Given the description of an element on the screen output the (x, y) to click on. 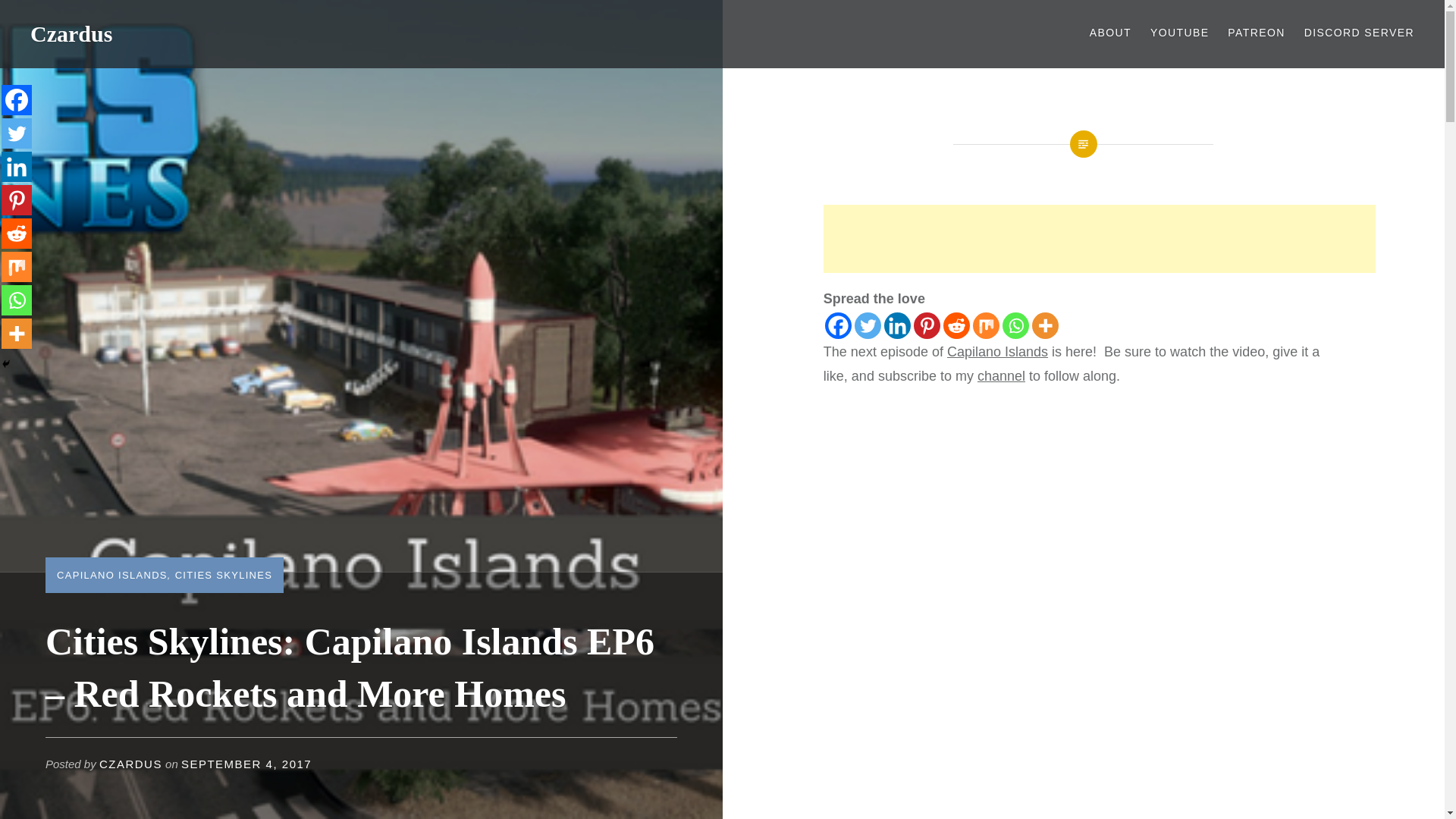
Whatsapp (1016, 325)
channel (1000, 376)
Advertisement (1099, 238)
Capilano Islands (997, 351)
DISCORD SERVER (1358, 32)
SEPTEMBER 4, 2017 (245, 763)
PATREON (1255, 32)
Whatsapp (16, 300)
Twitter (867, 325)
Mix (985, 325)
Pinterest (16, 200)
Linkedin (897, 325)
Linkedin (16, 166)
Czardus (71, 33)
CZARDUS (130, 763)
